Given the description of an element on the screen output the (x, y) to click on. 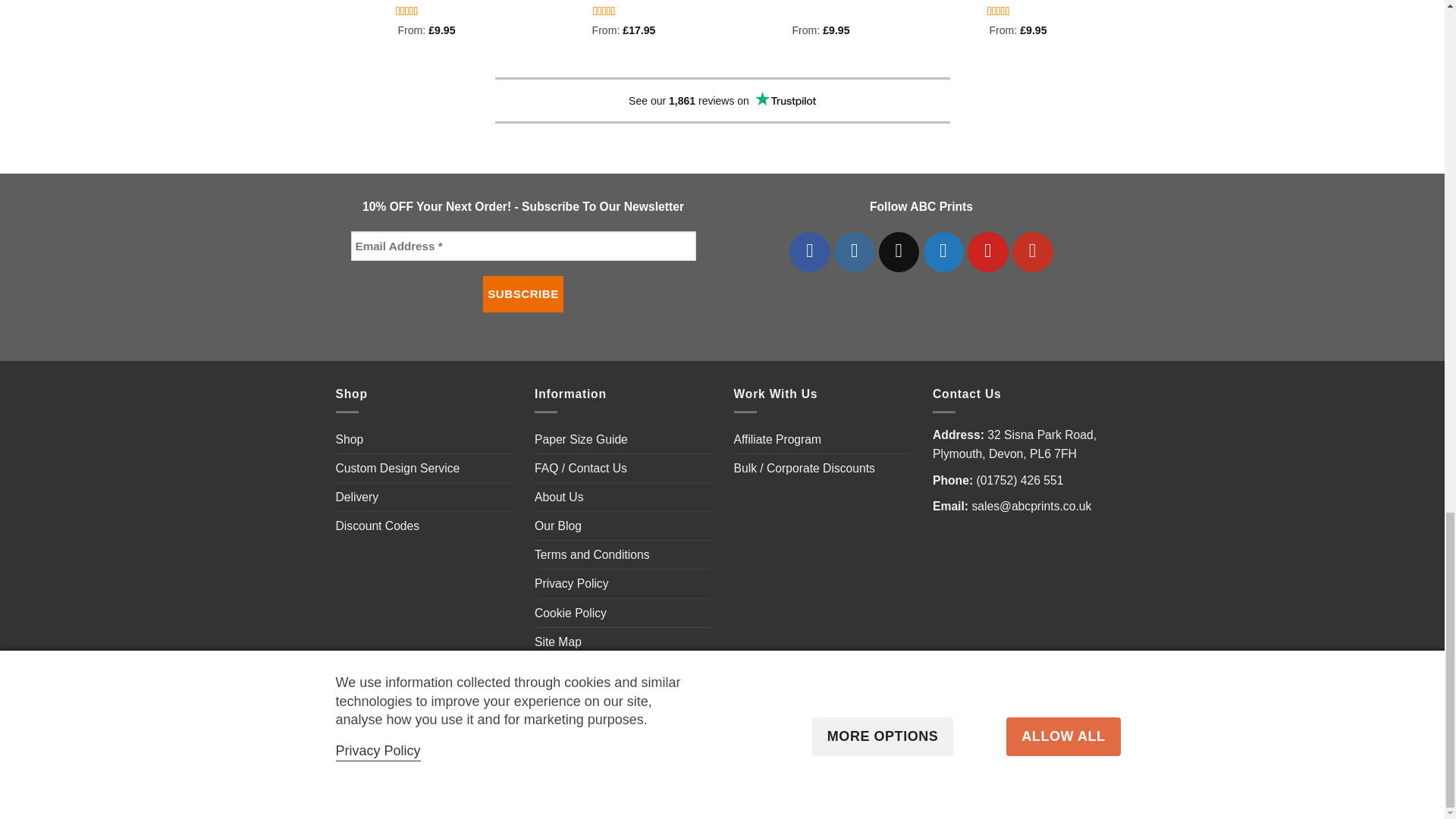
Subscribe (523, 293)
